Given the description of an element on the screen output the (x, y) to click on. 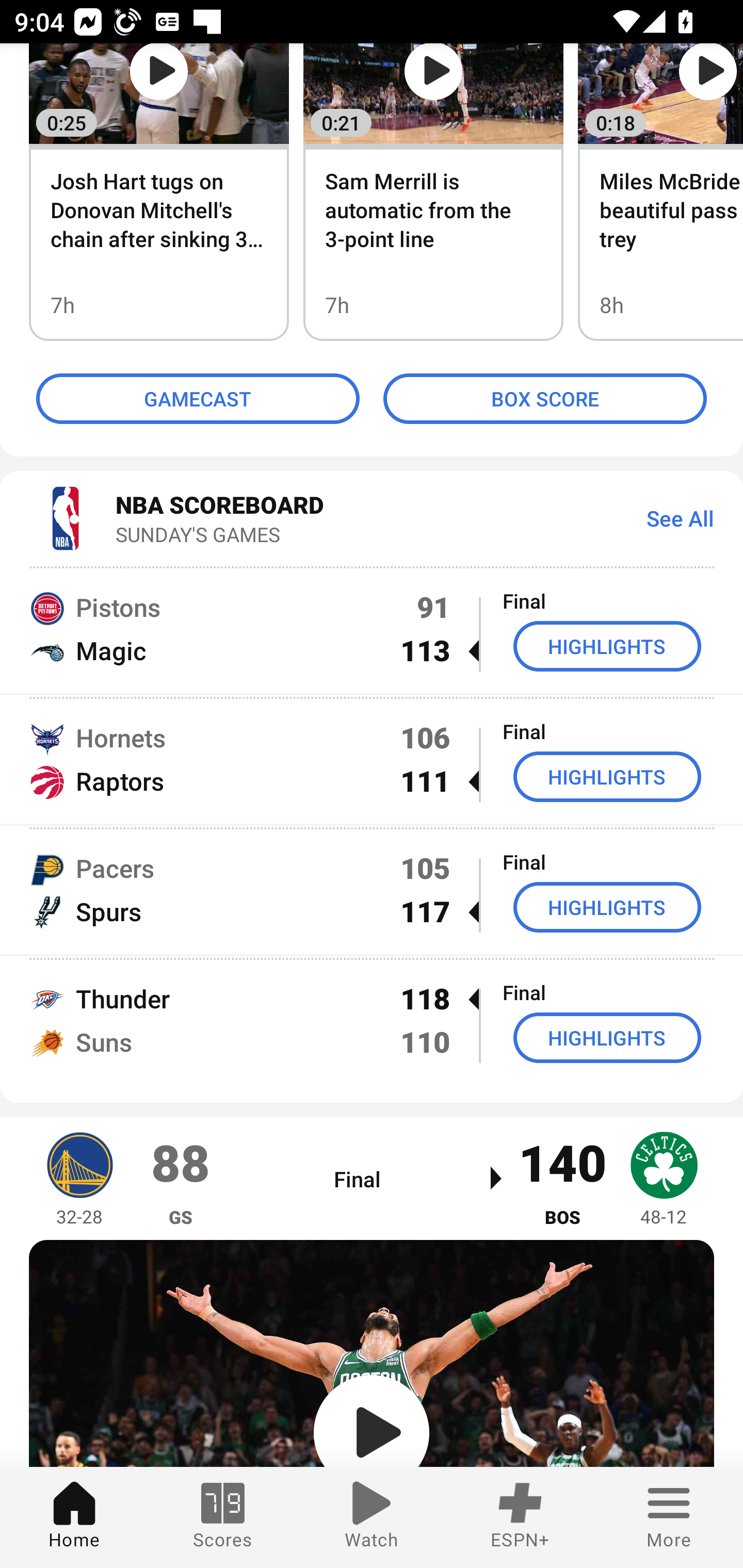
GAMECAST (197, 398)
BOX SCORE (544, 398)
NBA SCOREBOARD SUNDAY'S GAMES See All (371, 517)
Pistons 91 Final Magic 113  HIGHLIGHTS (371, 628)
HIGHLIGHTS (607, 645)
Hornets 106 Final Raptors 111  HIGHLIGHTS (371, 758)
HIGHLIGHTS (607, 776)
Pacers 105 Final Spurs 117  HIGHLIGHTS (371, 890)
HIGHLIGHTS (607, 906)
Thunder 118  Final Suns 110 HIGHLIGHTS (371, 1020)
HIGHLIGHTS (607, 1037)
 (371, 1353)
Scores (222, 1517)
Watch (371, 1517)
ESPN+ (519, 1517)
More (668, 1517)
